Given the description of an element on the screen output the (x, y) to click on. 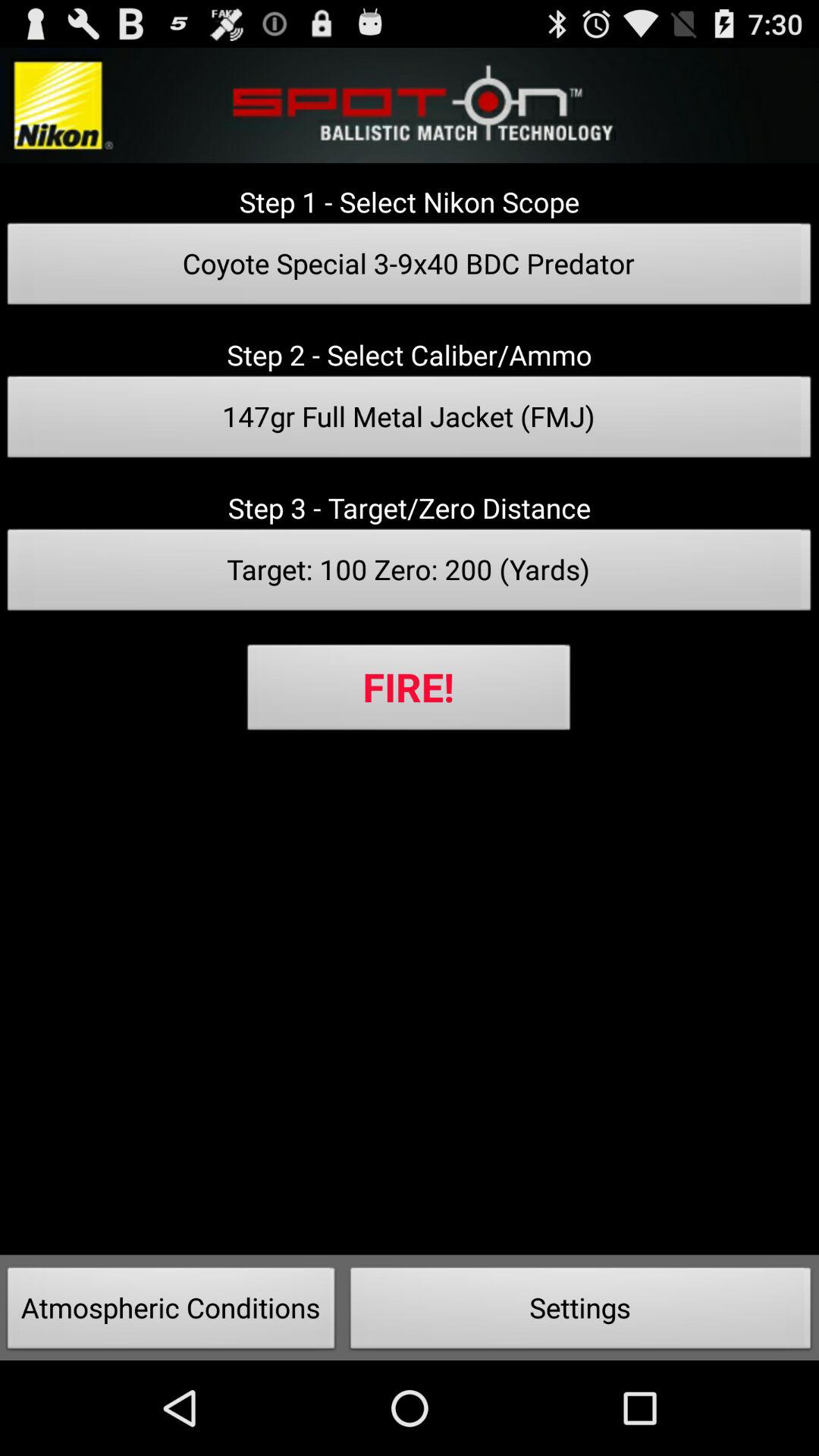
turn on the icon above step 3 target icon (409, 421)
